Given the description of an element on the screen output the (x, y) to click on. 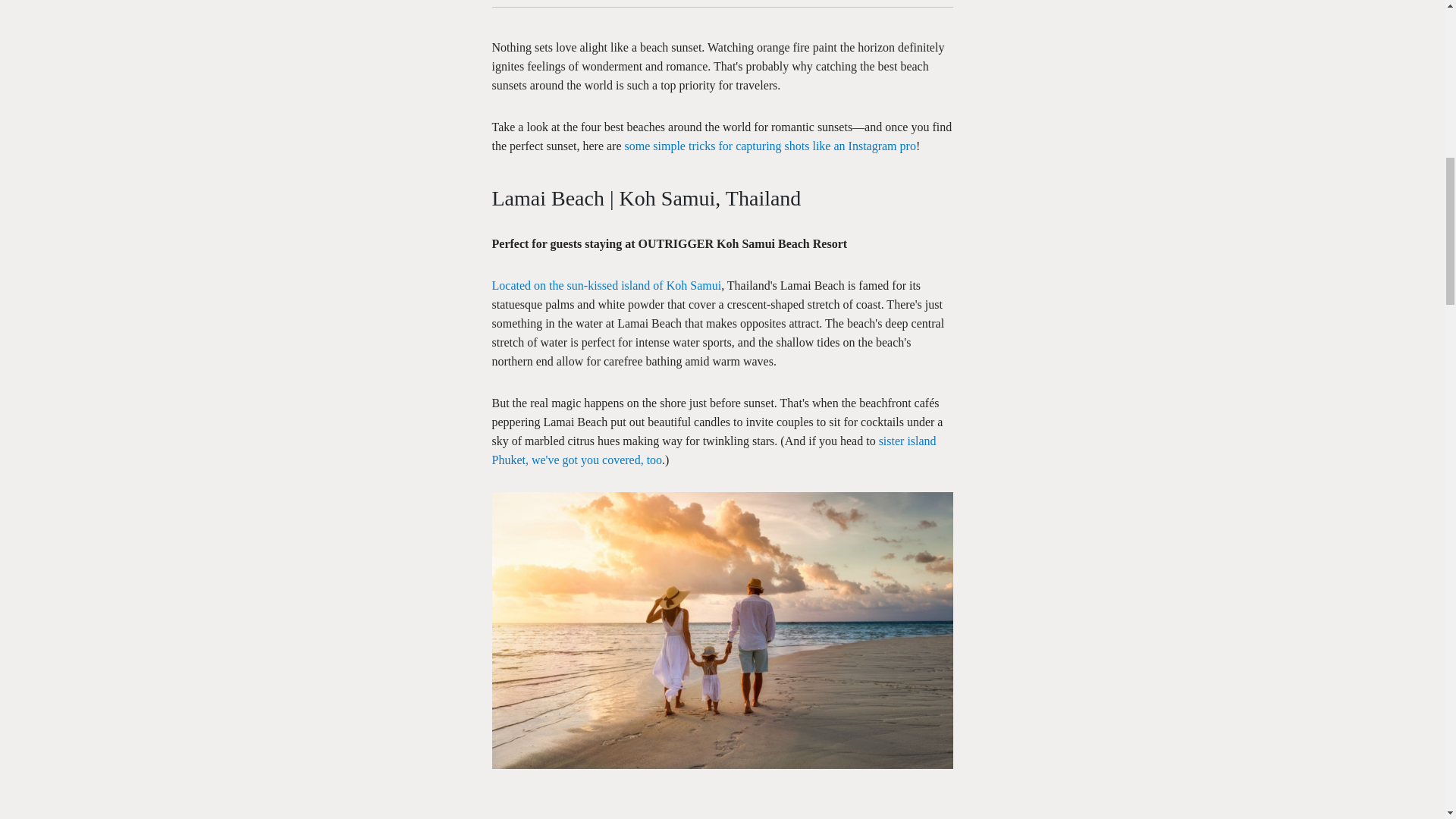
sister island Phuket, we've got you covered, too (714, 450)
some simple tricks for capturing shots like an Instagram pro (769, 145)
Located on the sun-kissed island of Koh Samui (606, 285)
